Given the description of an element on the screen output the (x, y) to click on. 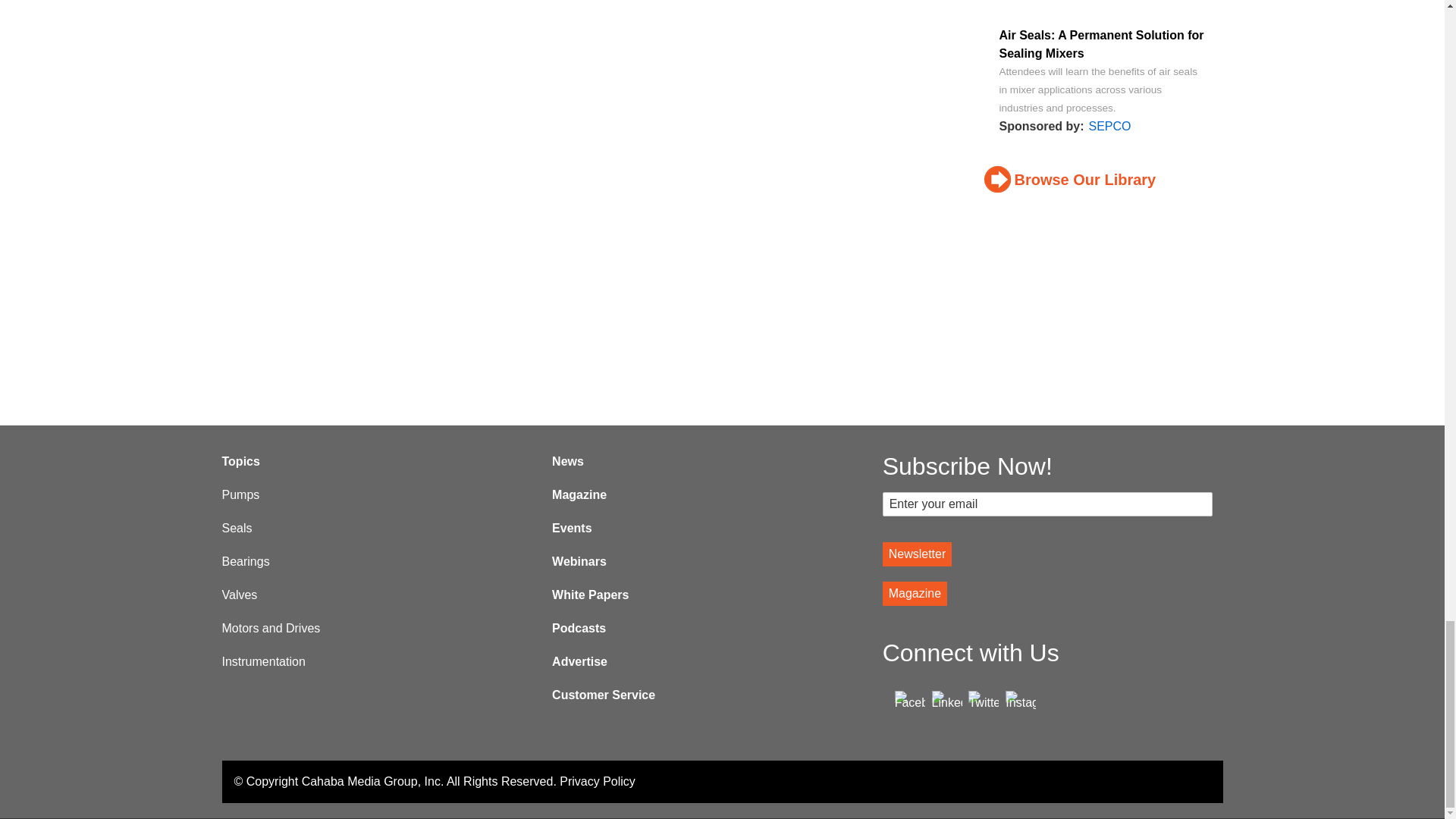
Magazine (914, 593)
Newsletter (917, 554)
